Given the description of an element on the screen output the (x, y) to click on. 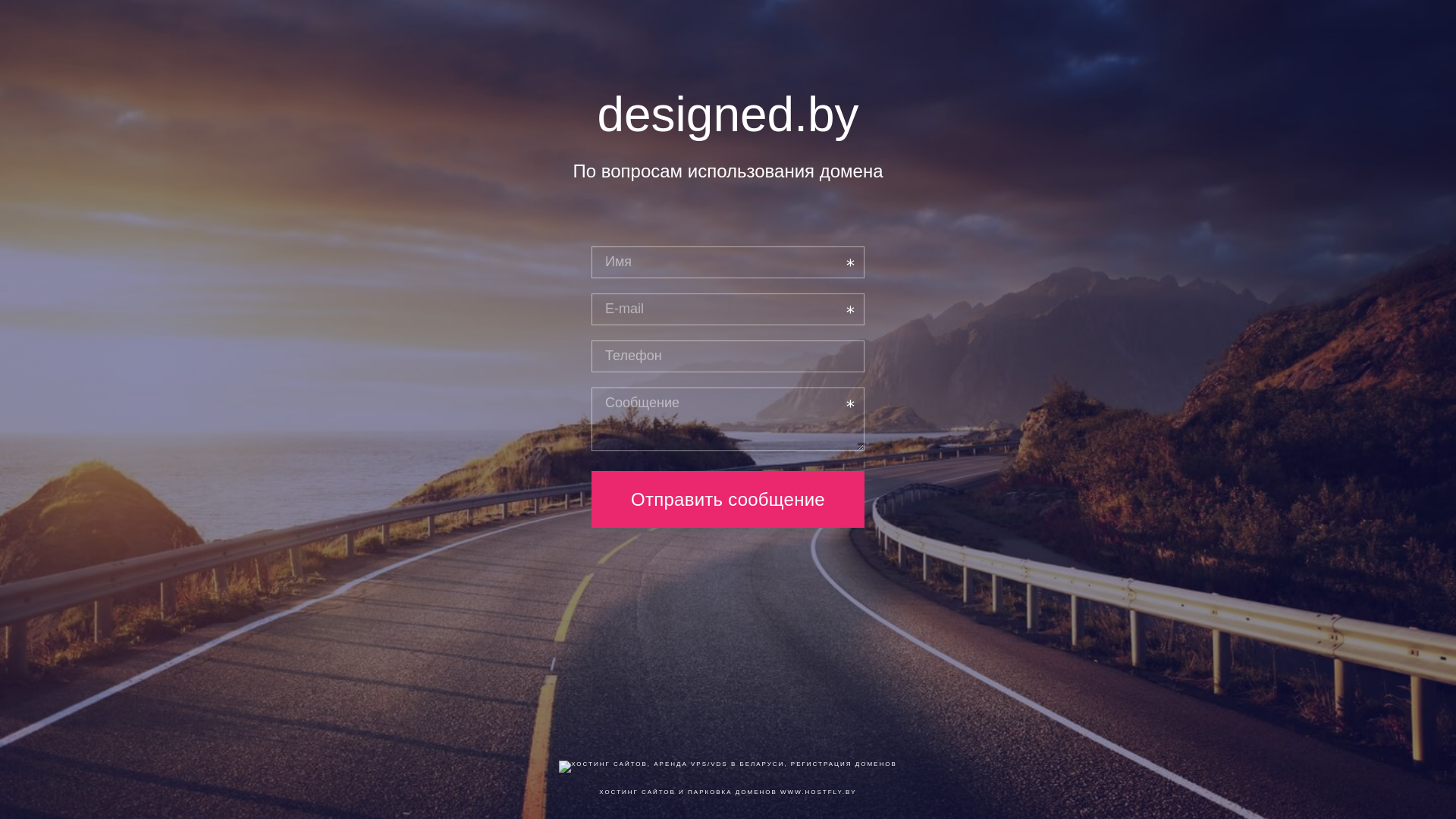
WWW.HOSTFLY.BY Element type: text (818, 791)
